Given the description of an element on the screen output the (x, y) to click on. 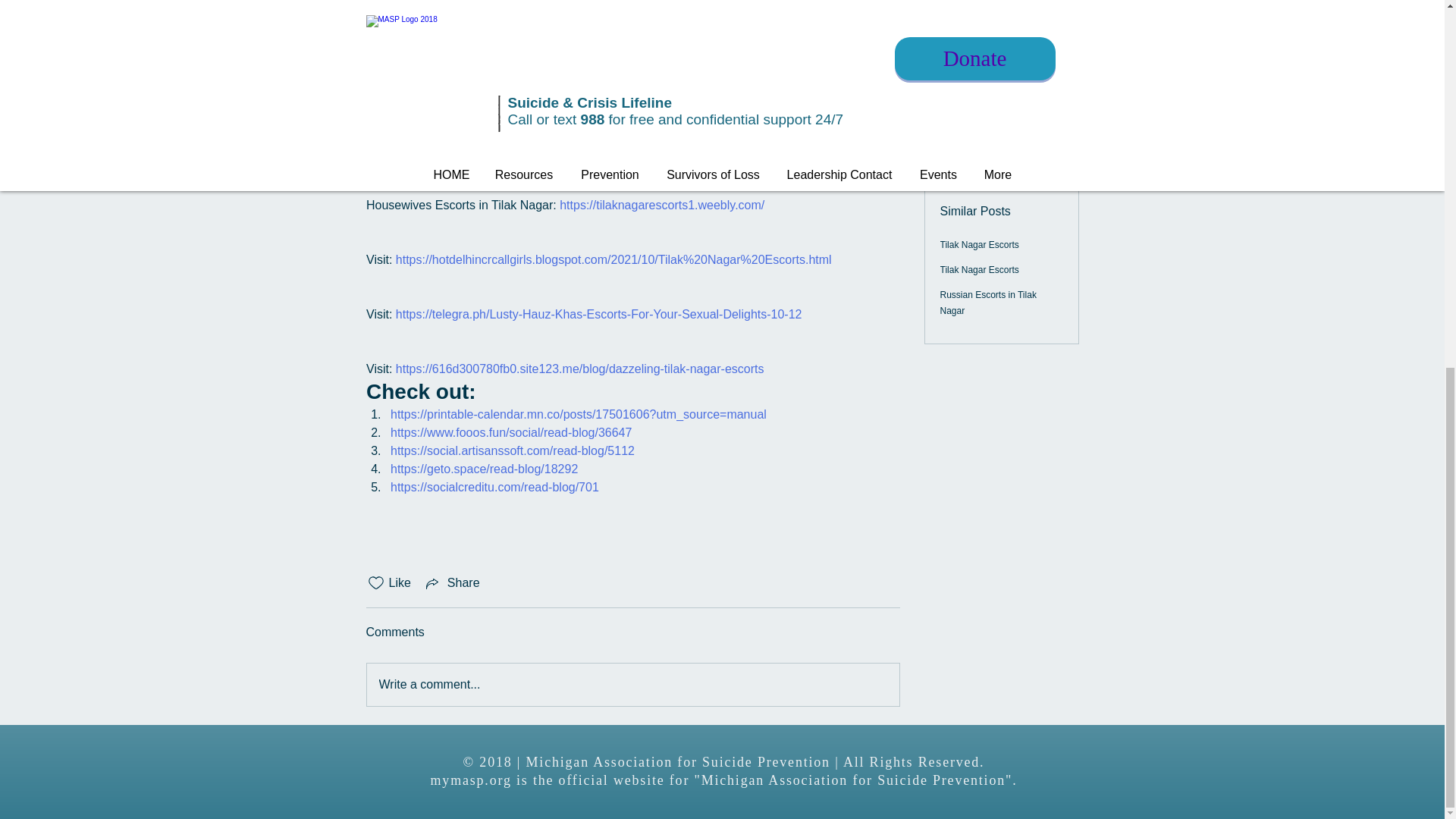
Share (451, 583)
Write a comment... (632, 684)
